Given the description of an element on the screen output the (x, y) to click on. 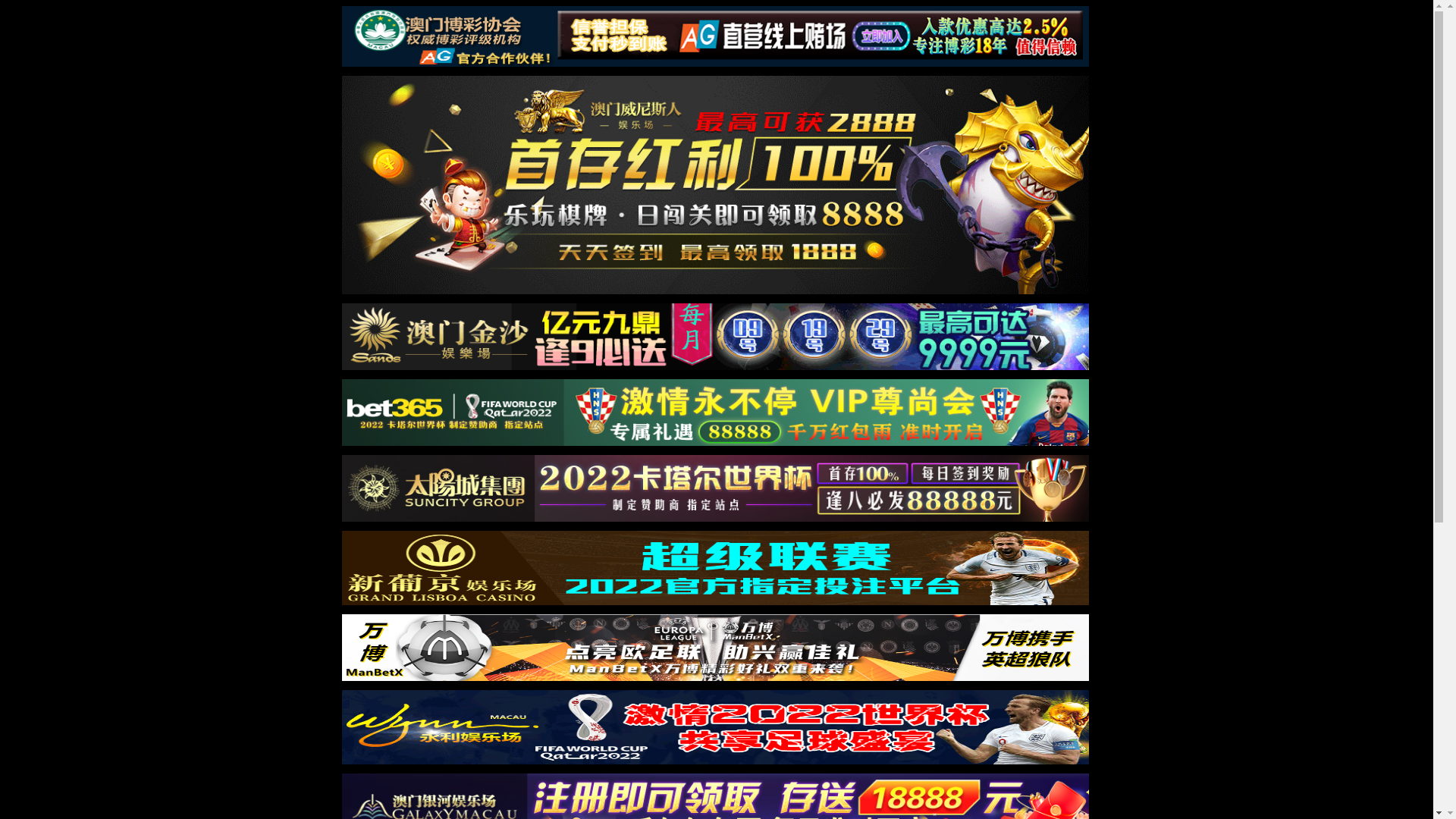
  Element type: text (1418, 762)
